Given the description of an element on the screen output the (x, y) to click on. 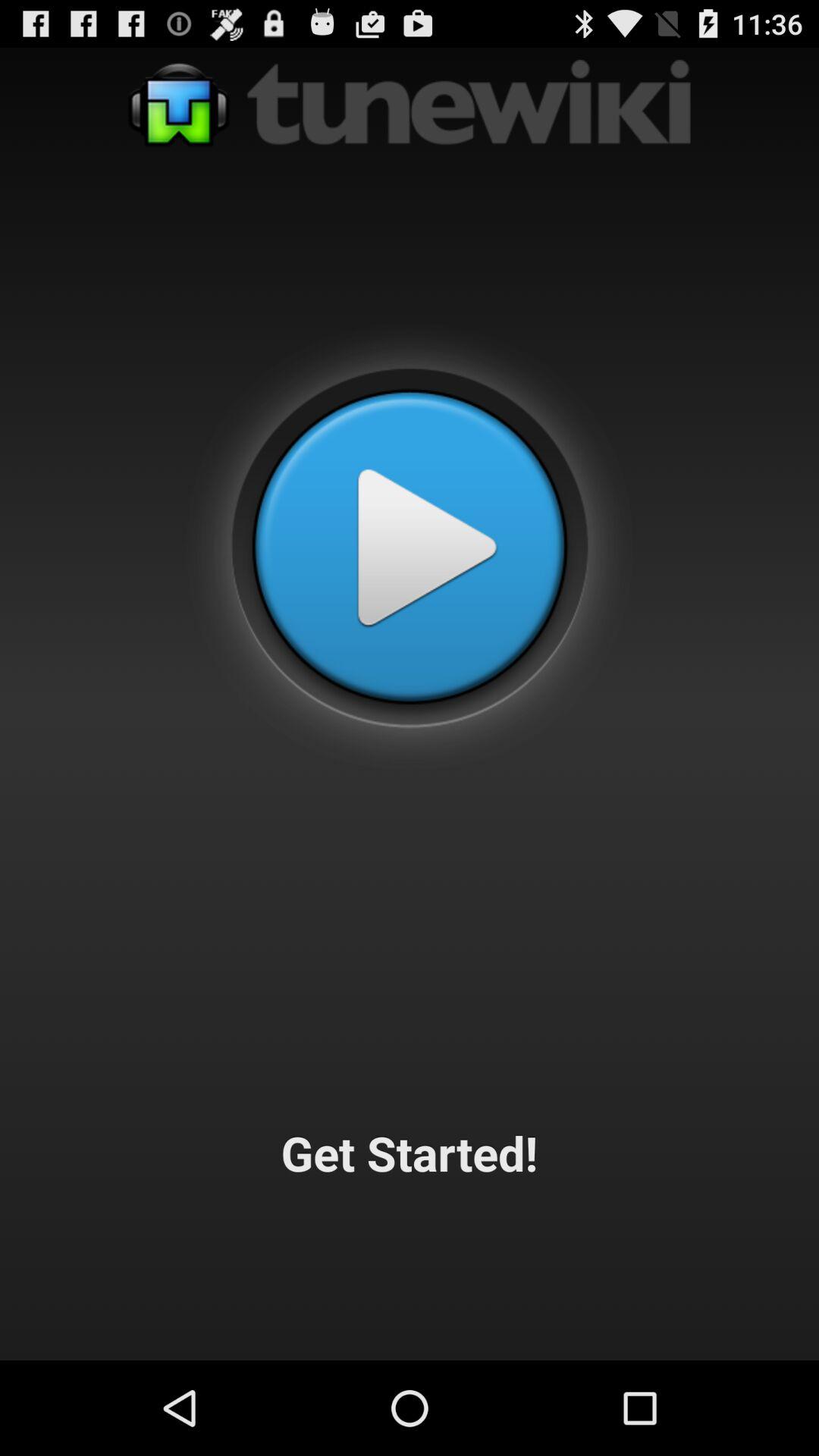
open the app above get started! (409, 546)
